Given the description of an element on the screen output the (x, y) to click on. 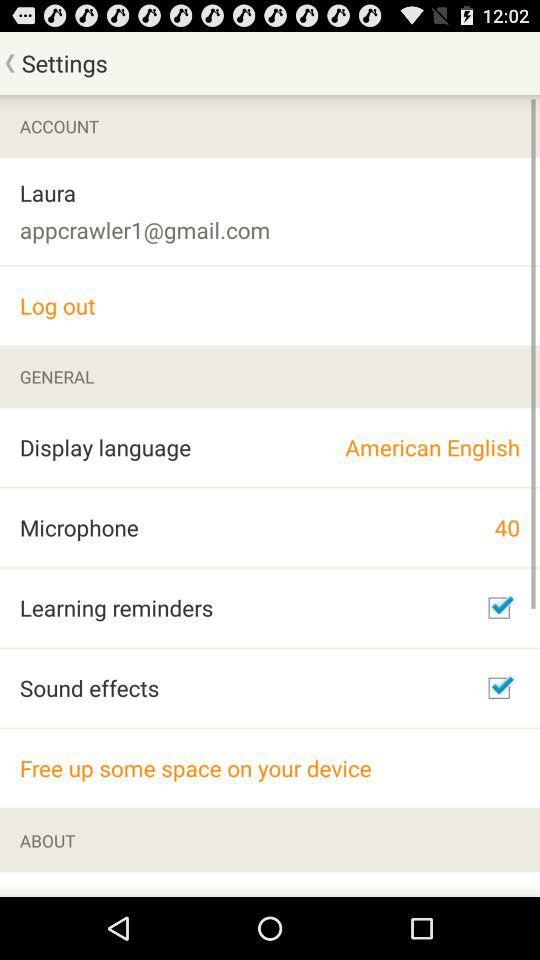
scroll until the log out icon (270, 305)
